Given the description of an element on the screen output the (x, y) to click on. 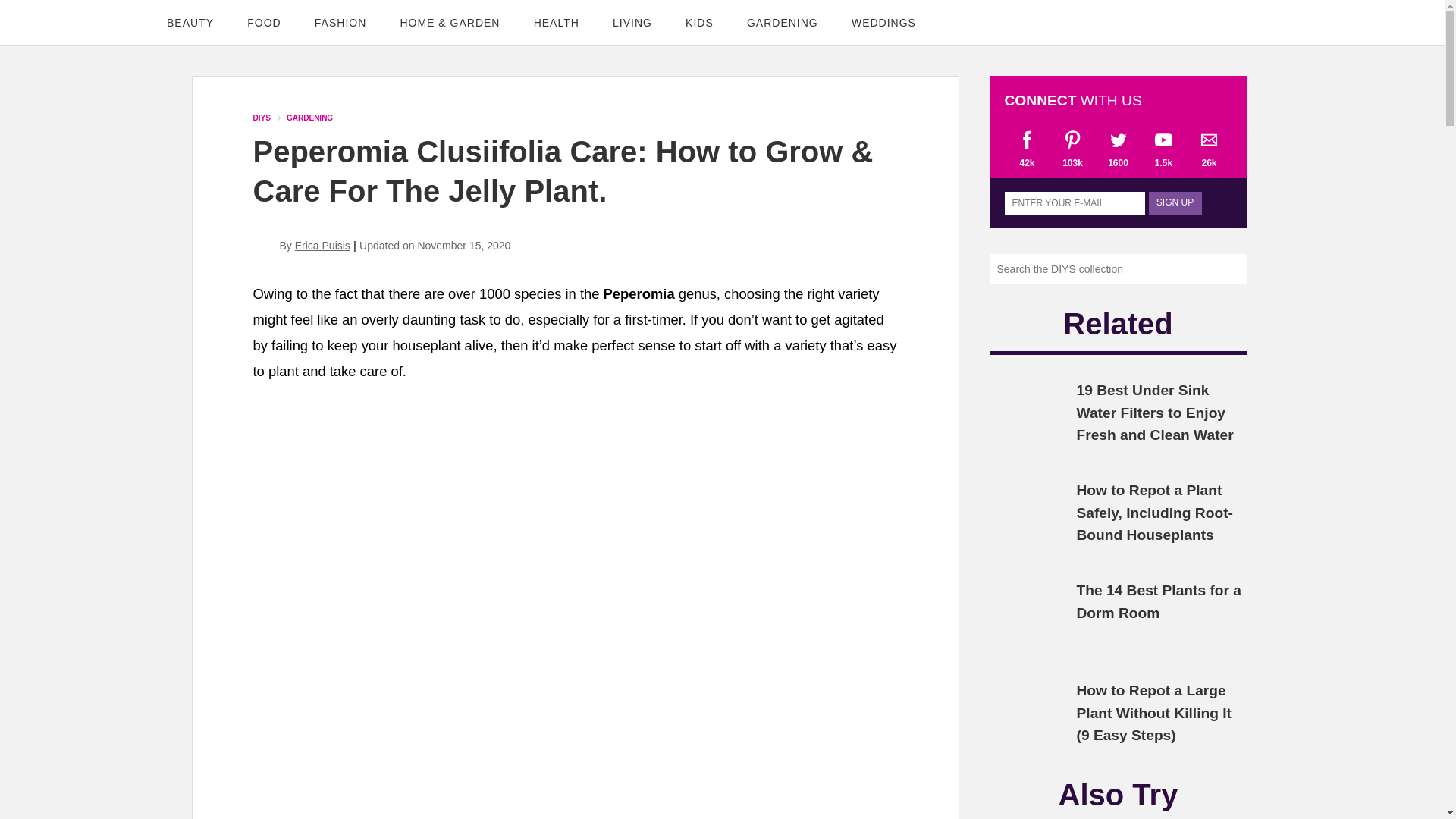
GARDENING (782, 22)
The 14 Best Plants for a Dorm Room (1159, 601)
DIYS.com (71, 22)
42k (1026, 147)
By Erica Puisis (301, 245)
103k (1071, 147)
LIVING (631, 22)
1600 (1117, 147)
